Given the description of an element on the screen output the (x, y) to click on. 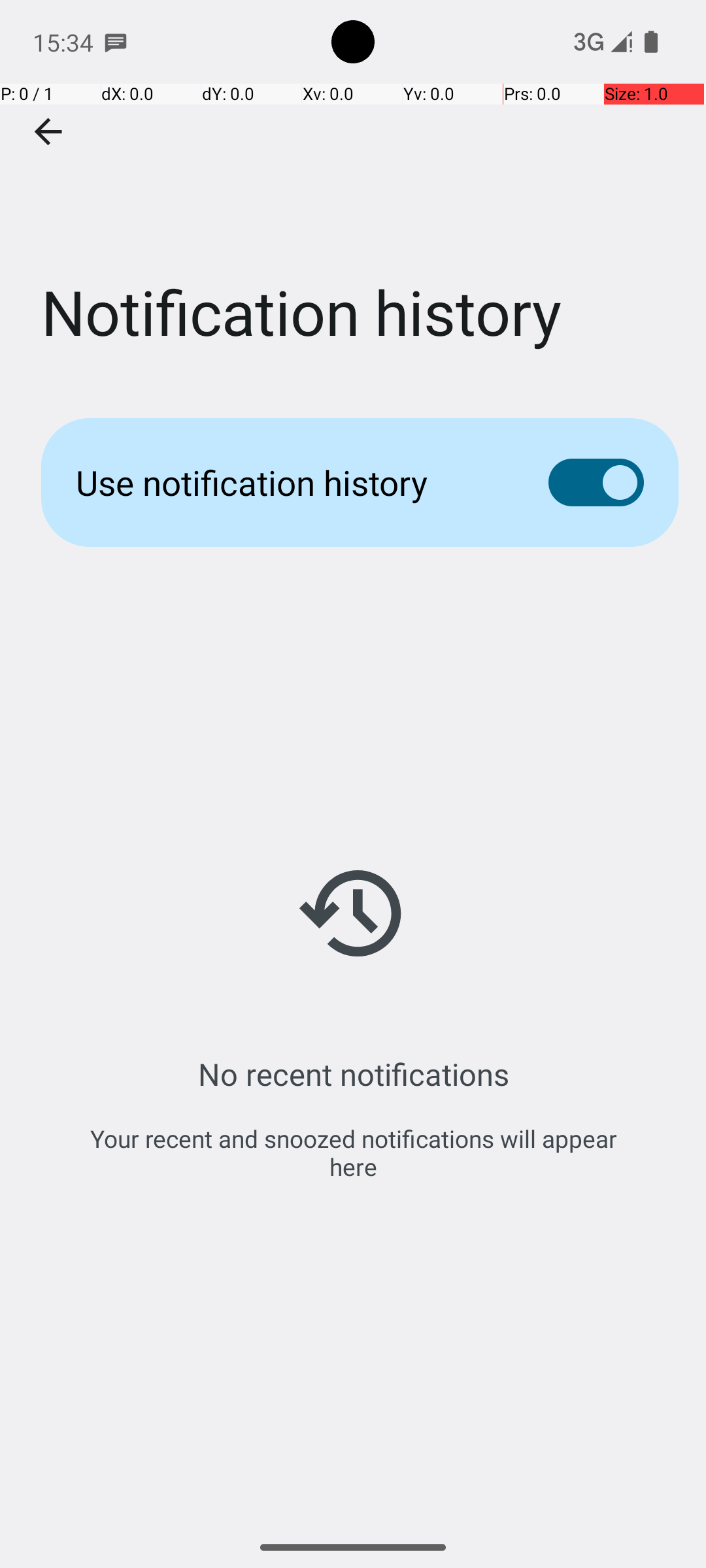
No recent notifications Element type: android.widget.TextView (352, 1073)
Your recent and snoozed notifications will appear here Element type: android.widget.TextView (352, 1152)
Use notification history Element type: android.widget.TextView (291, 482)
